Given the description of an element on the screen output the (x, y) to click on. 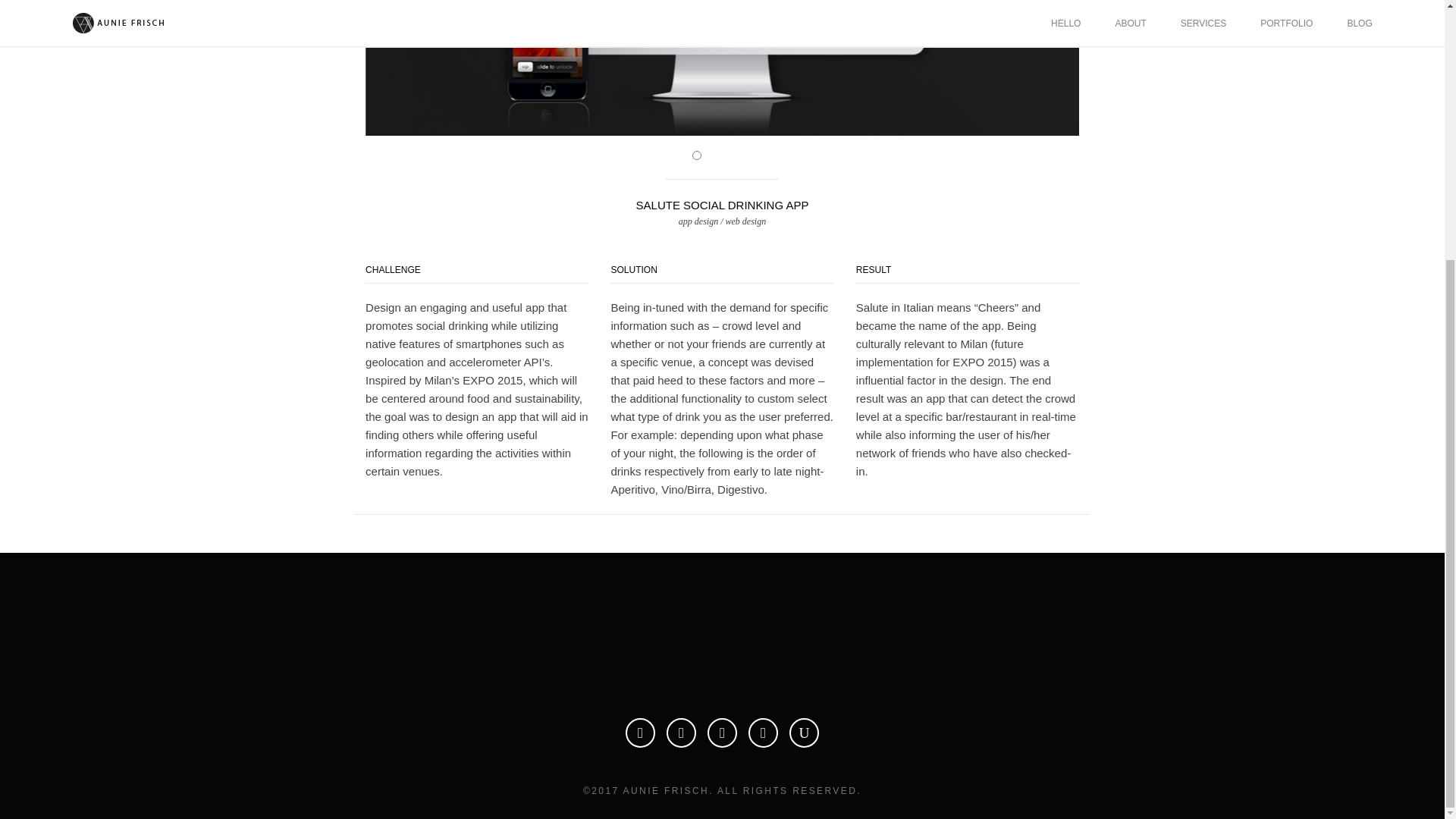
1 (697, 154)
Facebook (640, 732)
Soundcloud (762, 732)
Linkedin (680, 732)
4 (746, 154)
Pinterest (721, 732)
2 (713, 154)
3 (730, 154)
YouTube (803, 732)
